Given the description of an element on the screen output the (x, y) to click on. 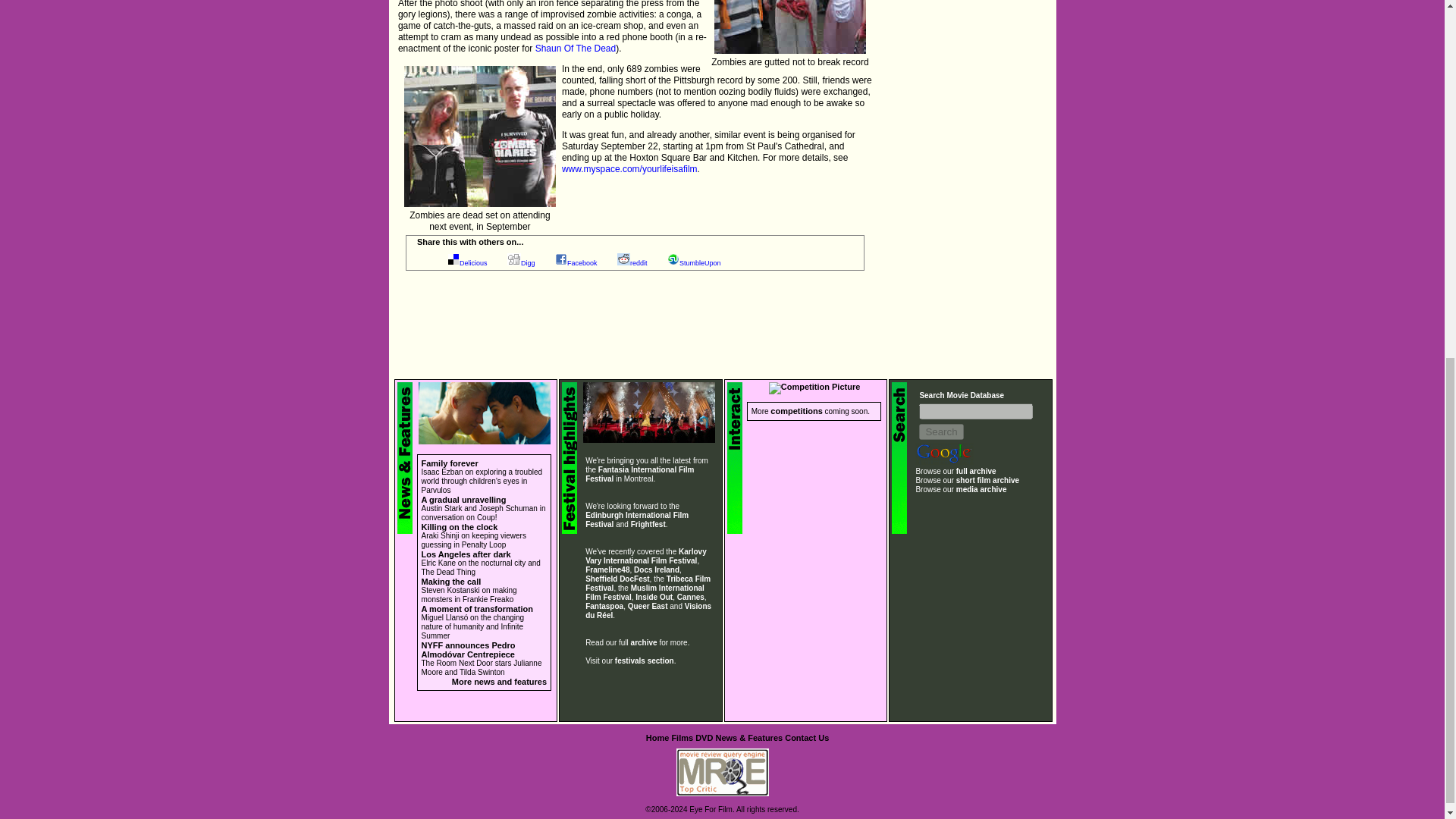
Digg (528, 262)
Post this to reddit (638, 262)
Search (940, 431)
reddit (638, 262)
Delicious (473, 262)
Post this to StumbleUpon (699, 262)
Post this to Delicious (473, 262)
StumbleUpon (699, 262)
Facebook (581, 262)
Shaun Of The Dead (575, 48)
Post this to Facebook (581, 262)
Post this to Digg (528, 262)
